Given the description of an element on the screen output the (x, y) to click on. 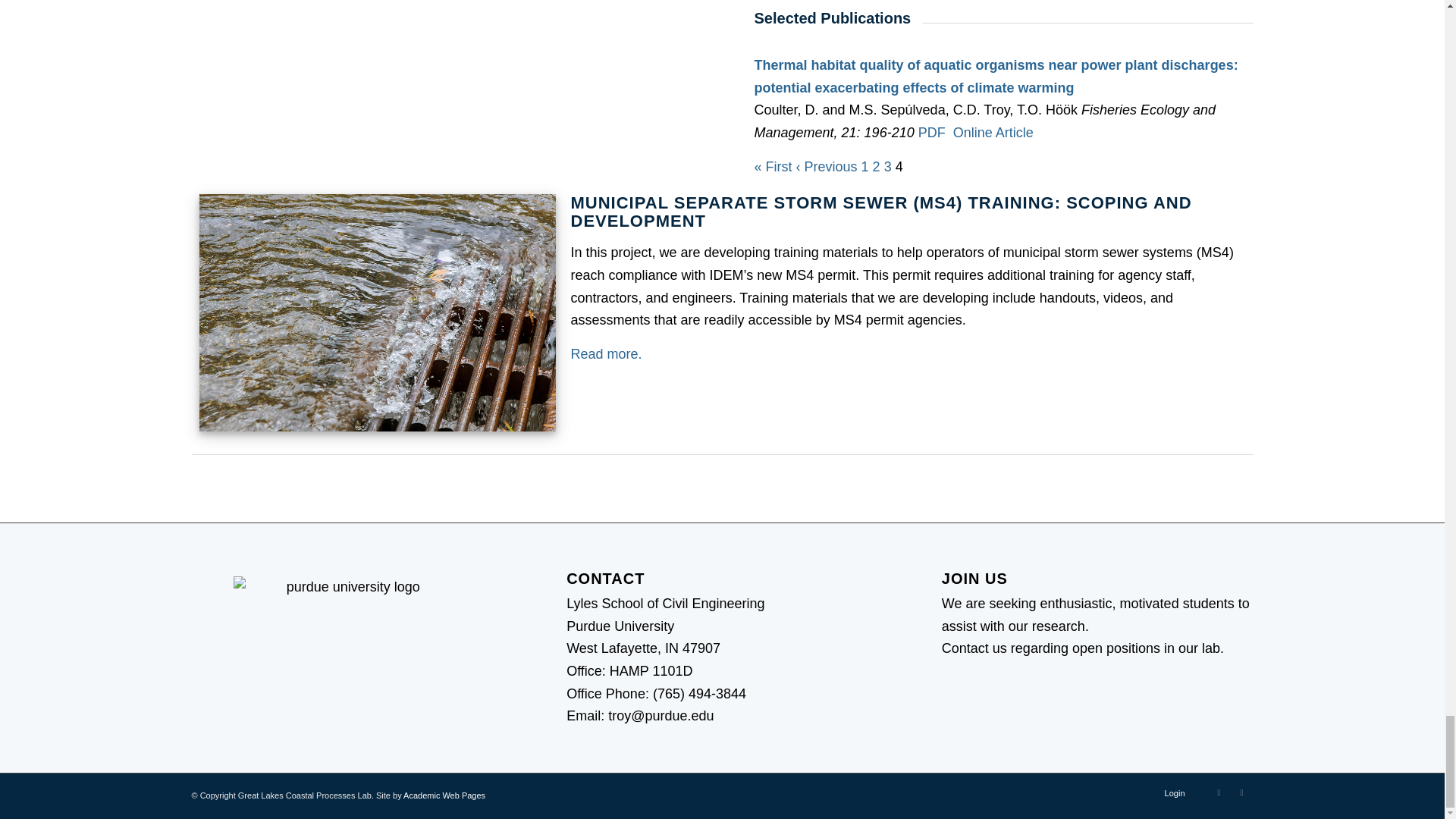
purdue university logo (346, 635)
X (1241, 792)
Youtube (1218, 792)
